Given the description of an element on the screen output the (x, y) to click on. 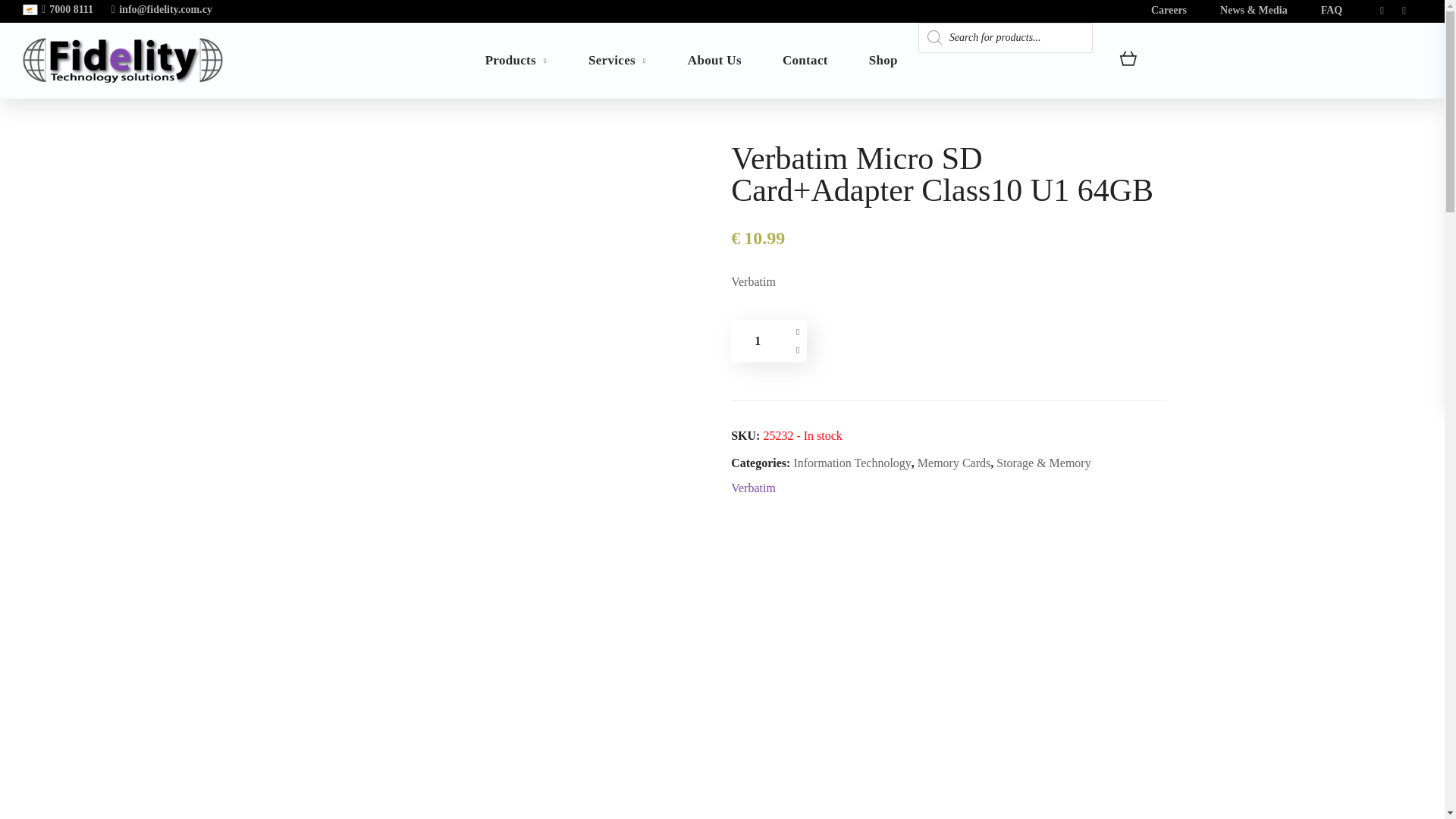
View brand (753, 487)
Products (515, 60)
Careers (1168, 9)
7000 8111 (67, 9)
Click to open Shopping Cart (1128, 60)
1 (757, 341)
FAQ (1331, 9)
Qty (757, 341)
